Given the description of an element on the screen output the (x, y) to click on. 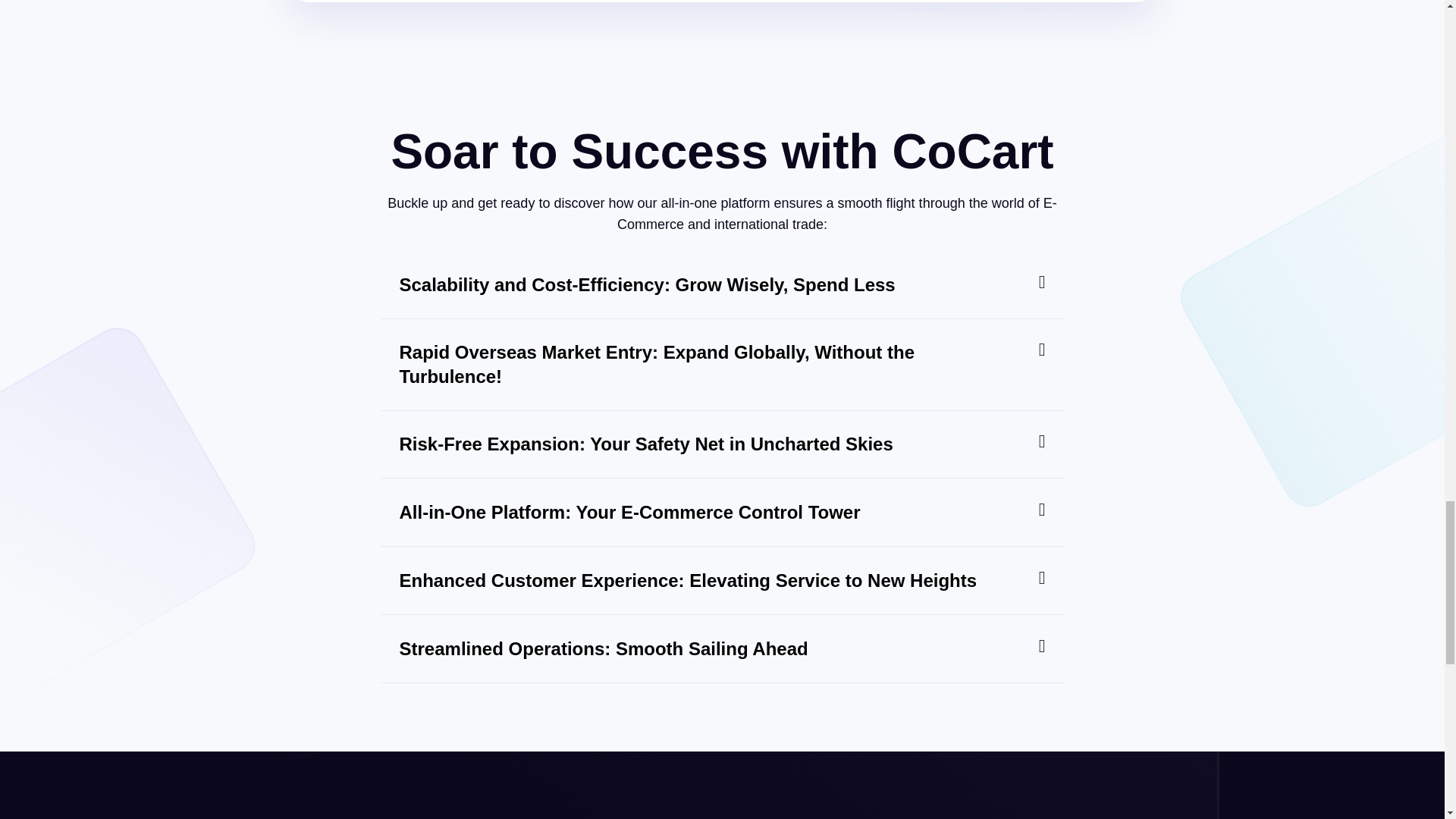
Scalability and Cost-Efficiency: Grow Wisely, Spend Less (646, 284)
Risk-Free Expansion: Your Safety Net in Uncharted Skies (645, 444)
Streamlined Operations: Smooth Sailing Ahead (603, 648)
All-in-One Platform: Your E-Commerce Control Tower (629, 512)
